Given the description of an element on the screen output the (x, y) to click on. 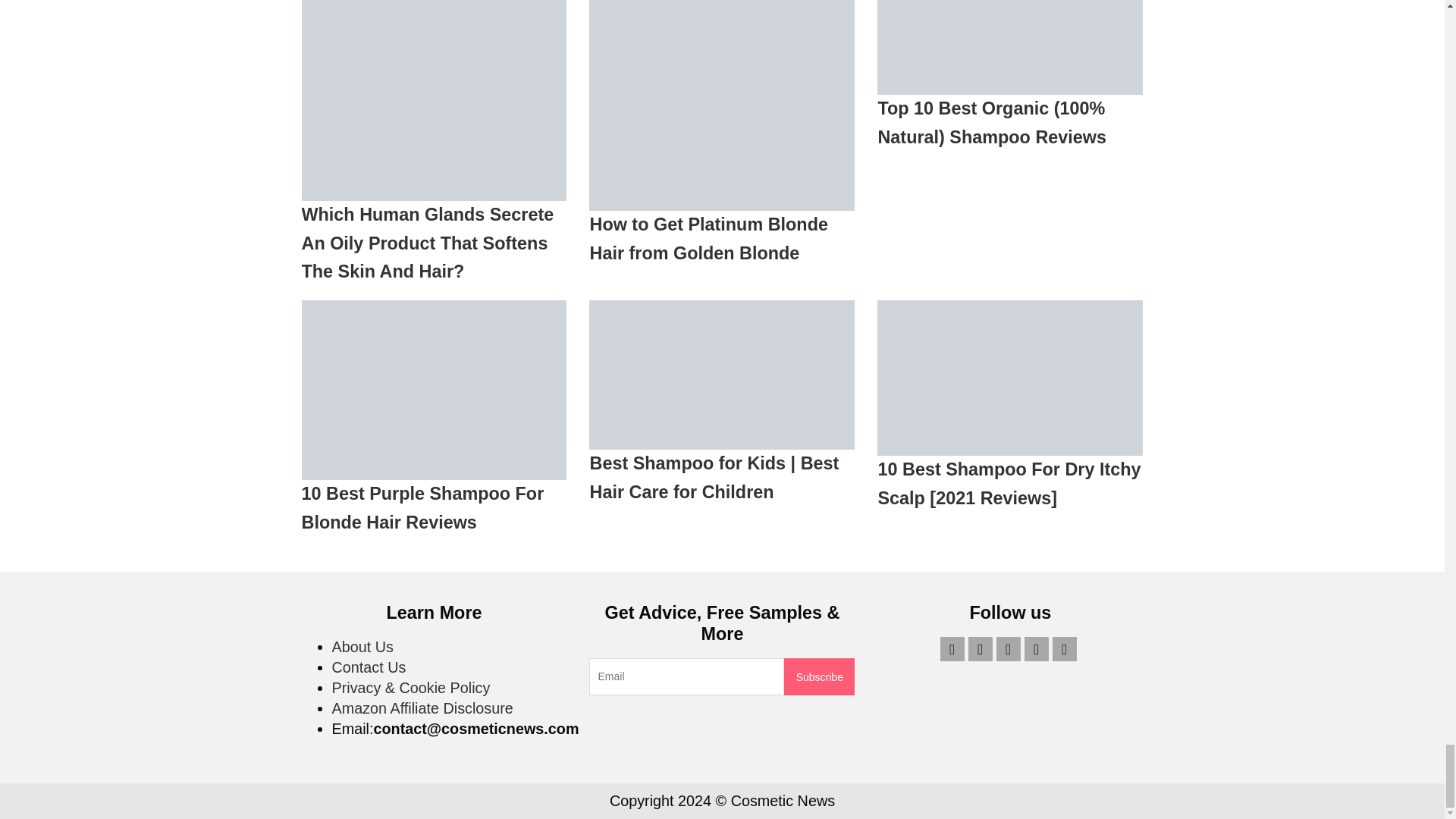
Subscribe (819, 676)
